Given the description of an element on the screen output the (x, y) to click on. 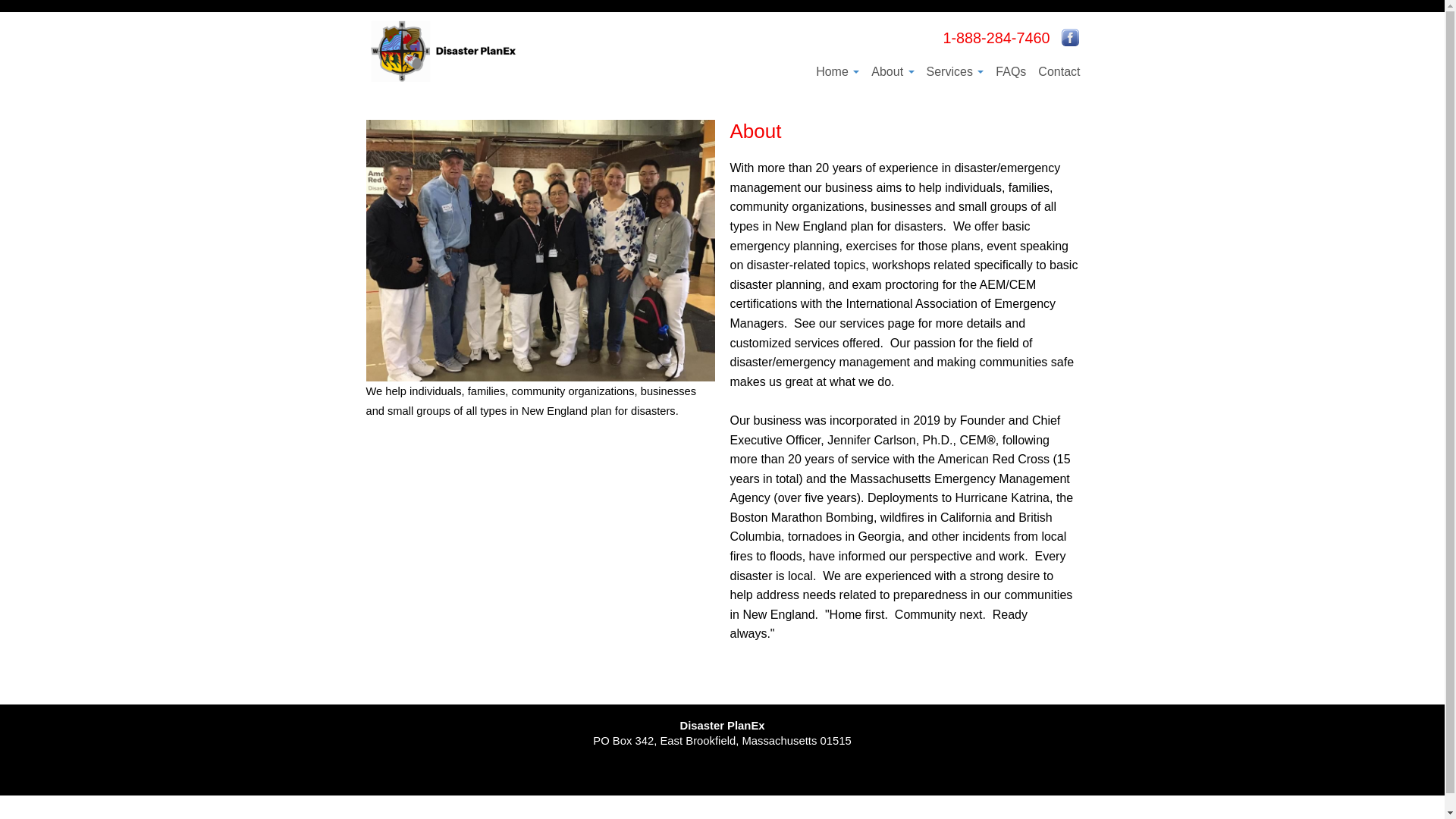
Contact Element type: text (1058, 70)
1-888-284-7460 Element type: text (995, 37)
About Element type: text (892, 70)
Services Element type: text (955, 70)
PO Box 342, East Brookfield, Massachusetts 01515 Element type: text (721, 740)
Home Element type: text (837, 70)
FAQs Element type: text (1010, 70)
